Given the description of an element on the screen output the (x, y) to click on. 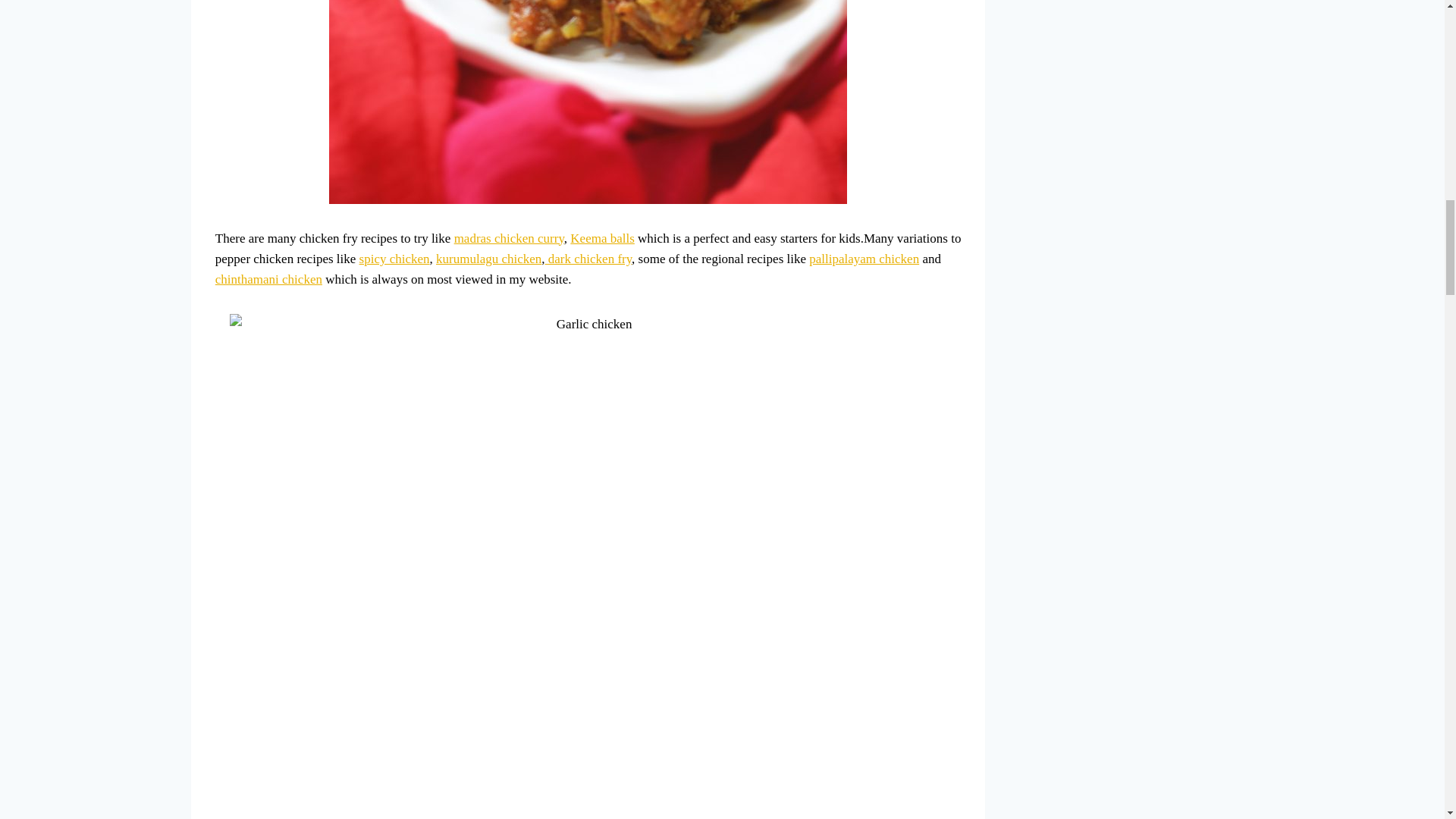
dark chicken fry (587, 258)
pallipalayam chicken (863, 258)
madras chicken curry (509, 237)
Keema balls (602, 237)
kurumulagu chicken (488, 258)
chinthamani chicken (268, 278)
spicy chicken (394, 258)
